Given the description of an element on the screen output the (x, y) to click on. 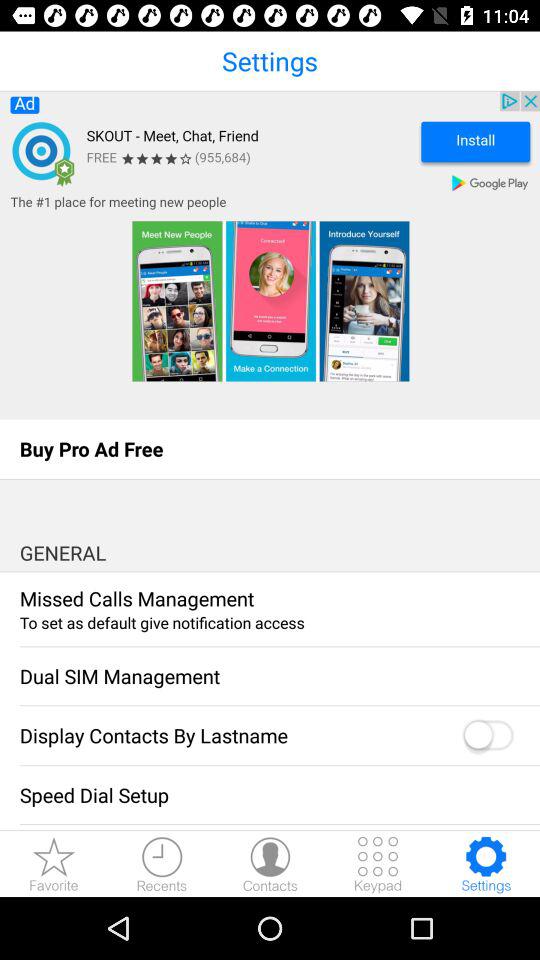
add to favourites (53, 864)
